Given the description of an element on the screen output the (x, y) to click on. 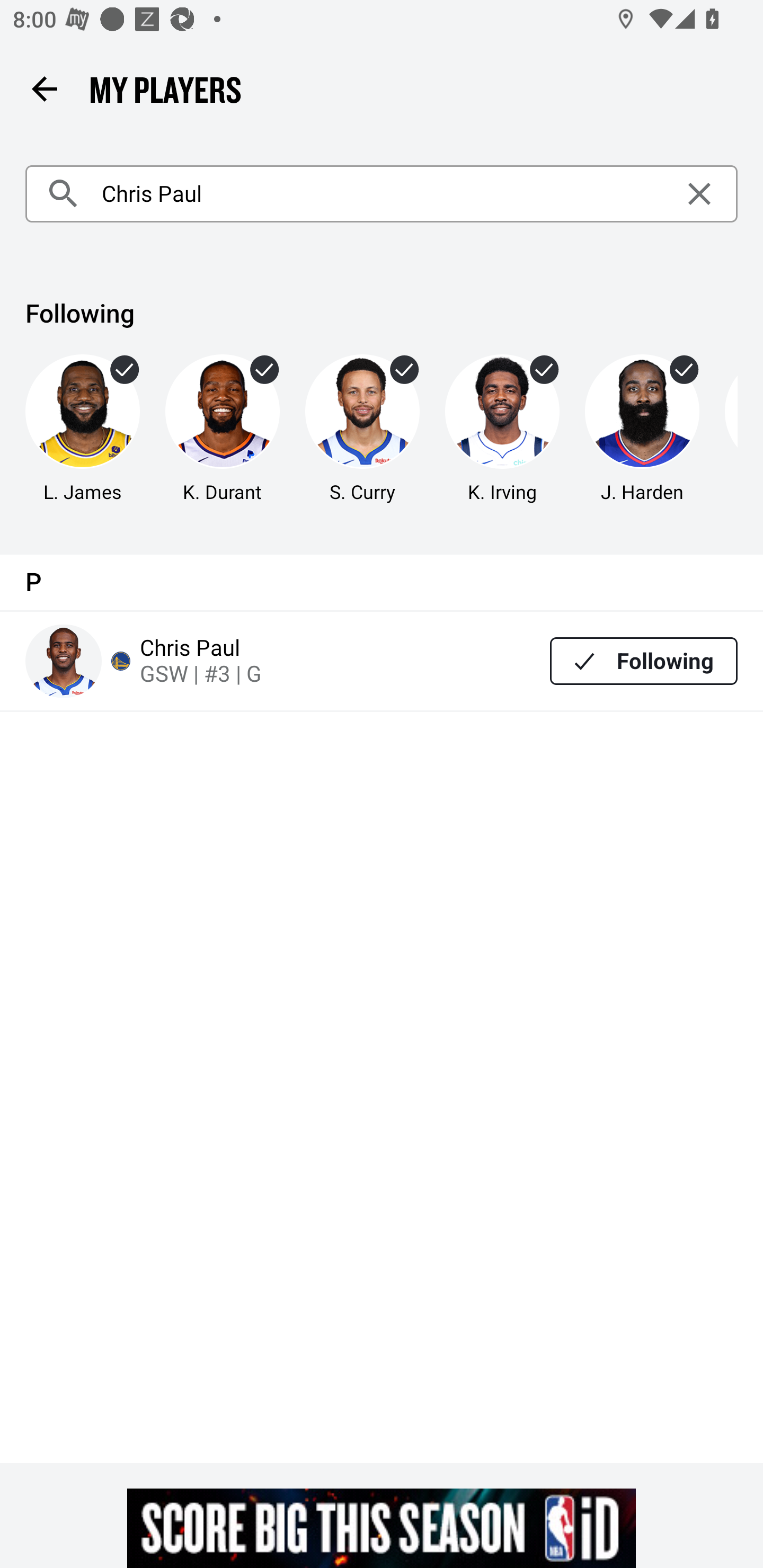
Back button (44, 88)
Chris Paul (381, 193)
Following (643, 660)
g5nqqygr7owph (381, 1528)
